Given the description of an element on the screen output the (x, y) to click on. 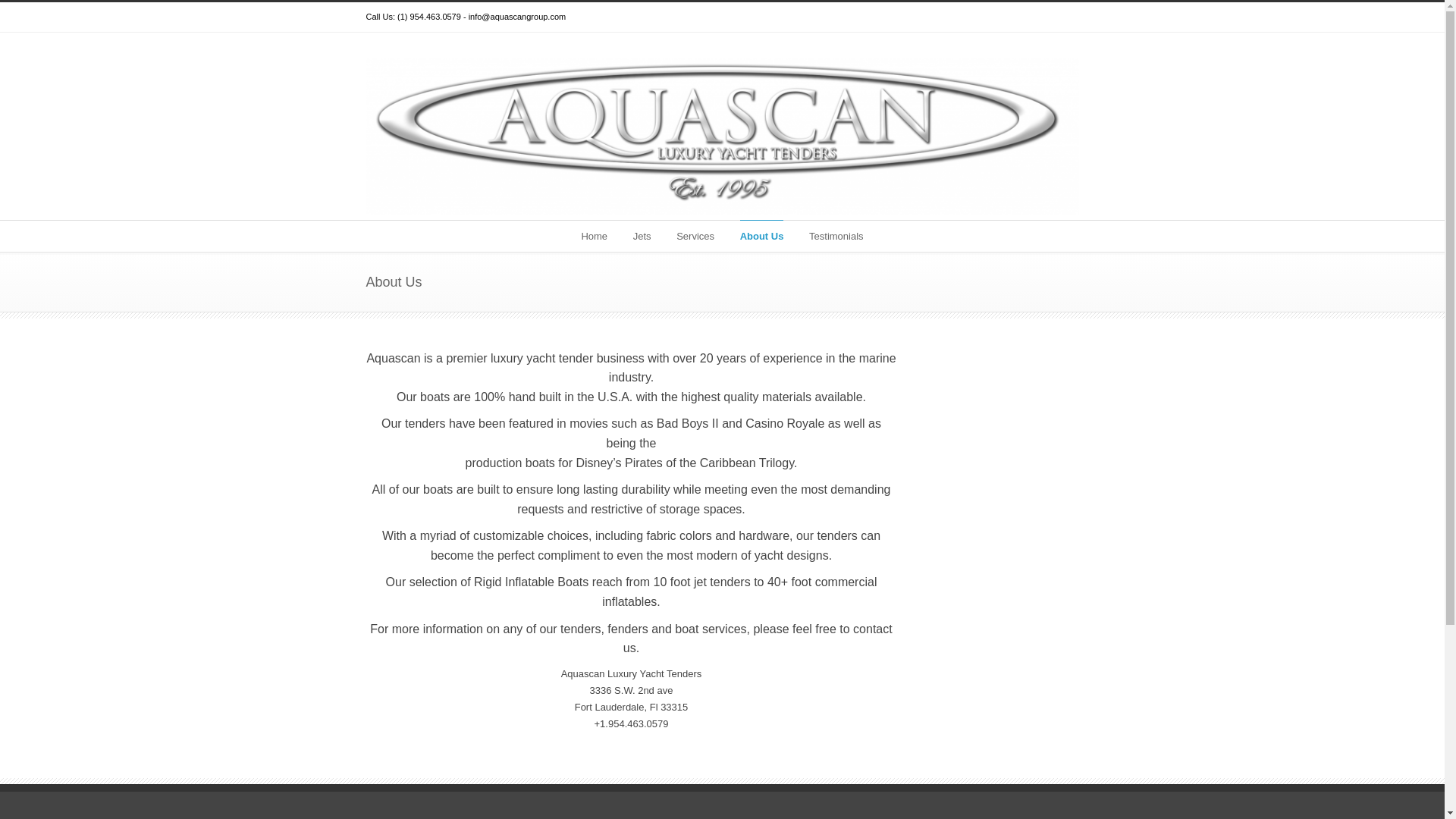
YouTube (1063, 17)
About Us (761, 235)
Services (695, 235)
Facebook (1002, 17)
YouTube (1063, 17)
Facebook (1002, 17)
Testimonials (836, 235)
Google (1032, 17)
